Given the description of an element on the screen output the (x, y) to click on. 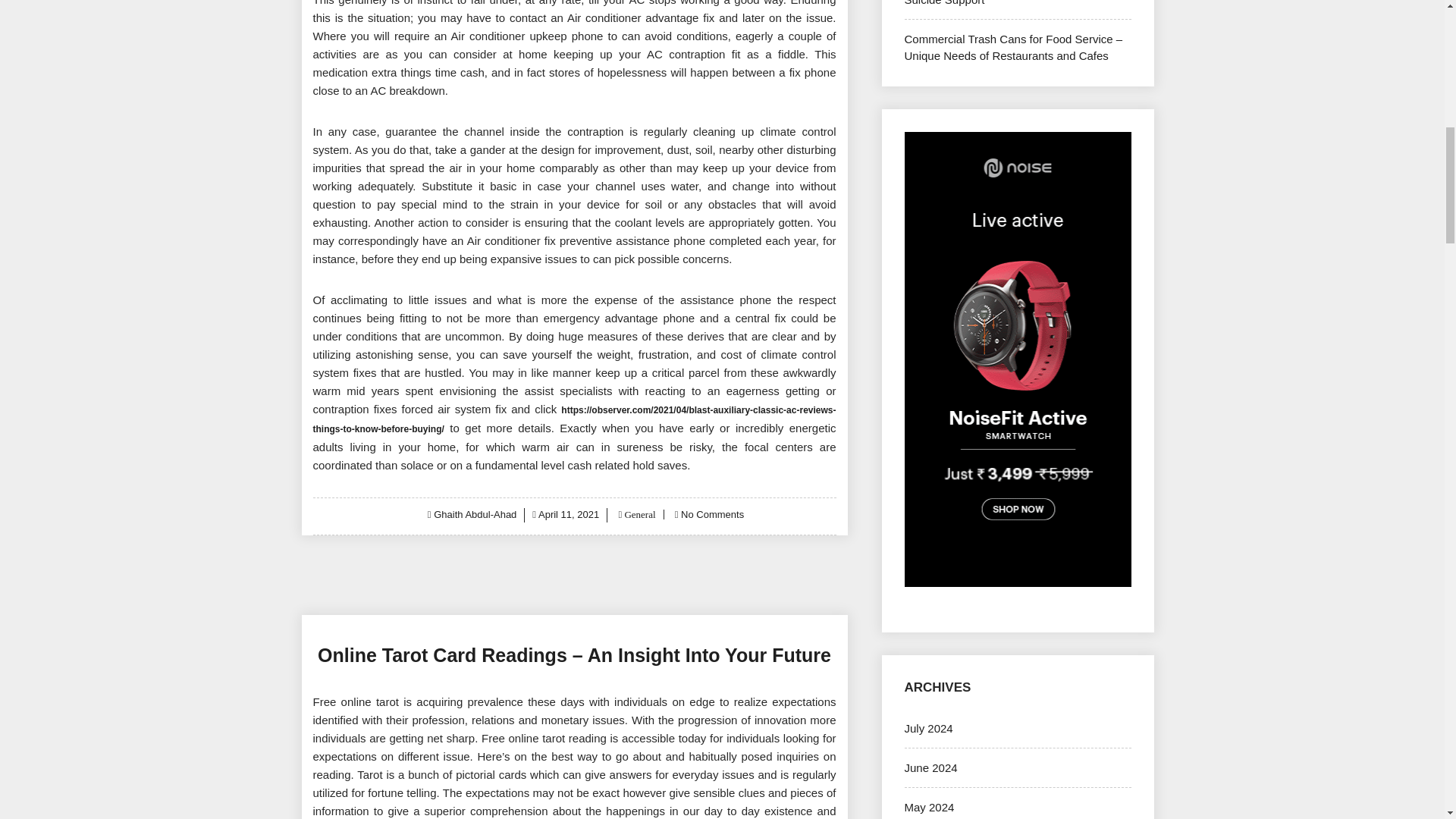
June 2024 (930, 767)
April 11, 2021 (568, 514)
May 2024 (928, 807)
Ghaith Abdul-Ahad (474, 514)
E-Despair Navigating the Risks of Online Suicide Support (1006, 2)
General (638, 514)
No Comments (712, 514)
July 2024 (928, 727)
